Given the description of an element on the screen output the (x, y) to click on. 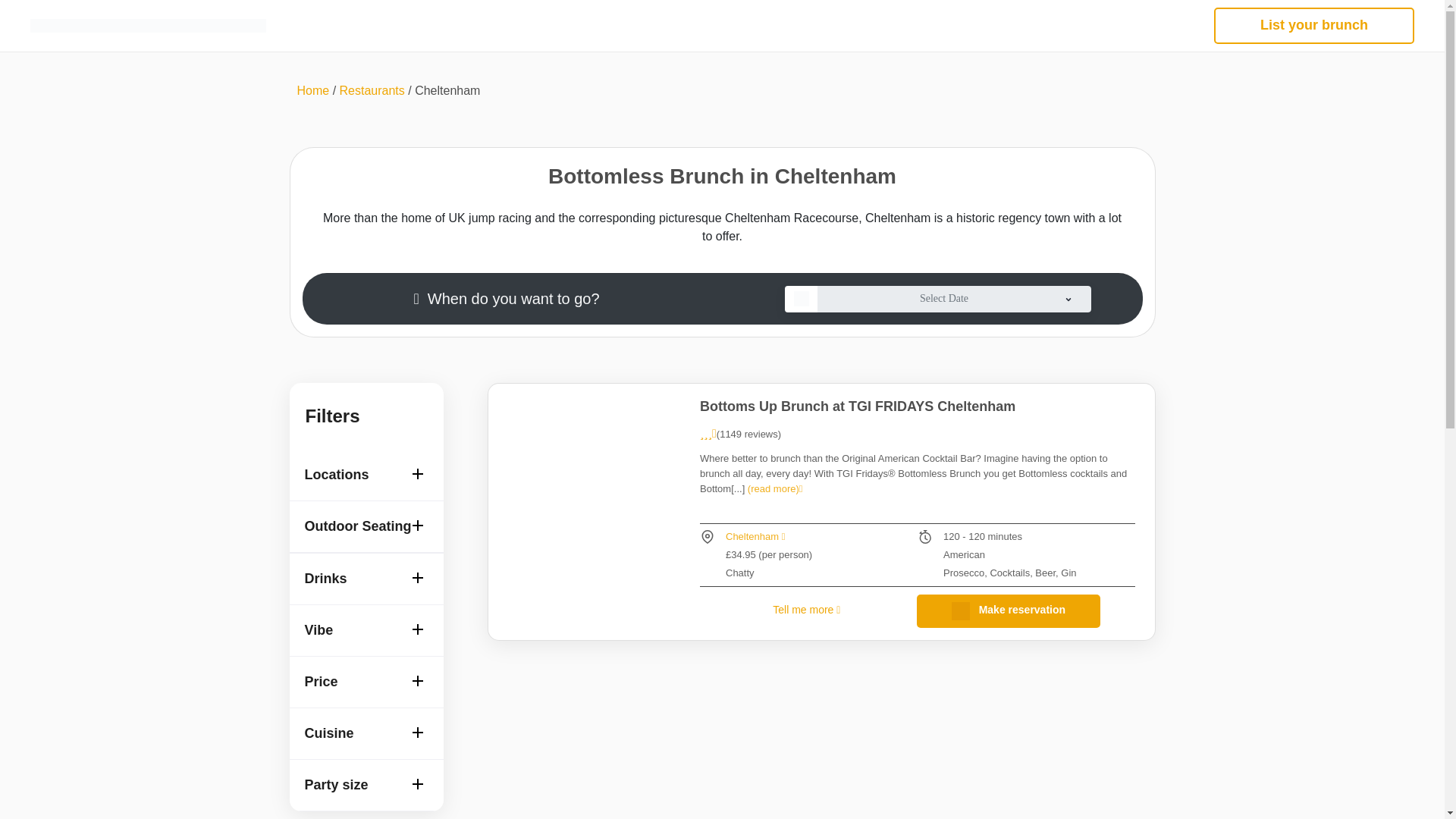
Home (313, 90)
Make reservation (1008, 611)
Cheltenham (754, 536)
Tell me more (806, 610)
Bottoms Up Brunch at TGI FRIDAYS Cheltenham (856, 406)
Learn more (856, 406)
Restaurants (371, 90)
List your brunch (1313, 25)
